Given the description of an element on the screen output the (x, y) to click on. 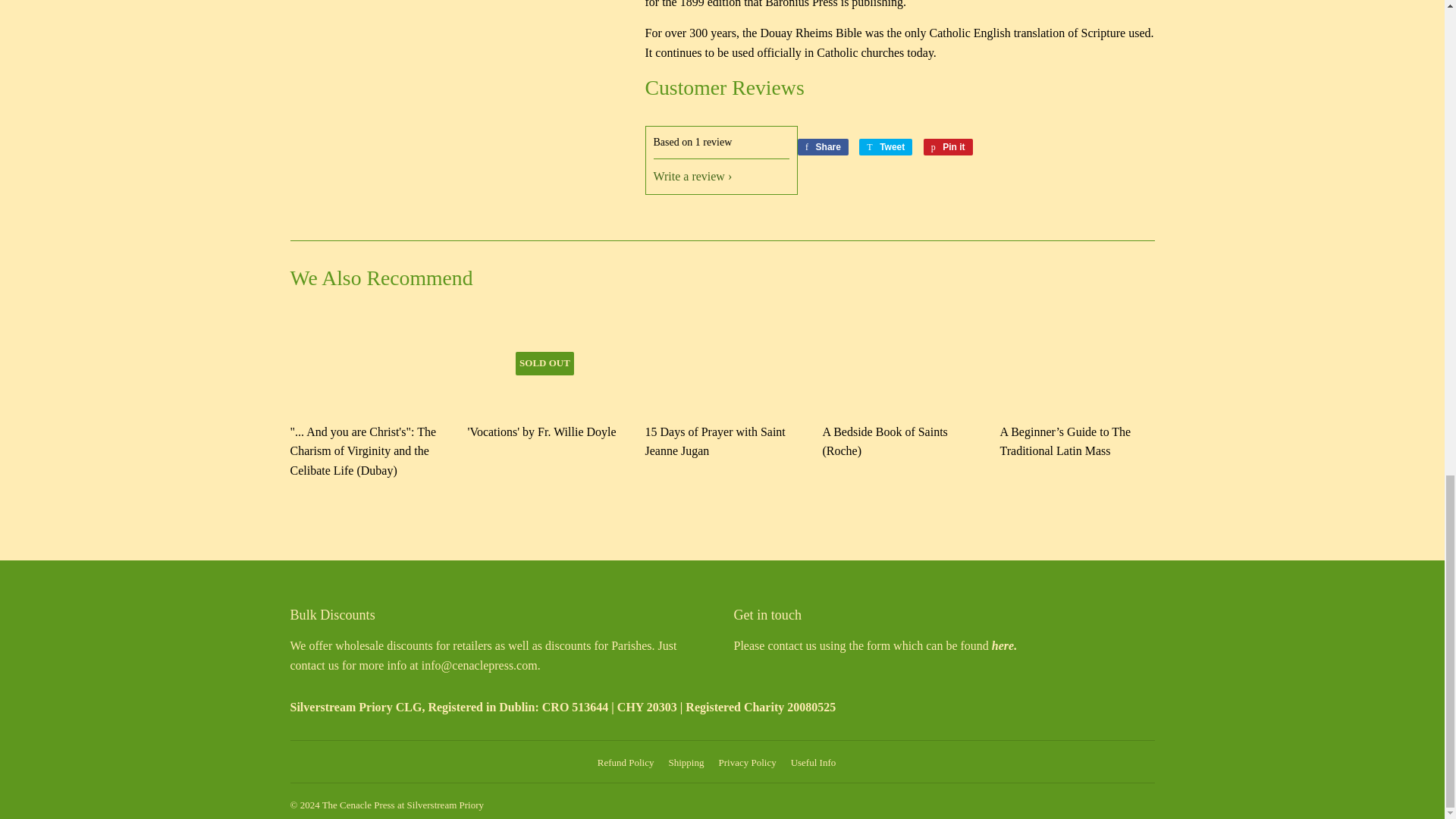
Pin on Pinterest (947, 146)
Share on Facebook (822, 146)
Tweet on Twitter (885, 146)
